Given the description of an element on the screen output the (x, y) to click on. 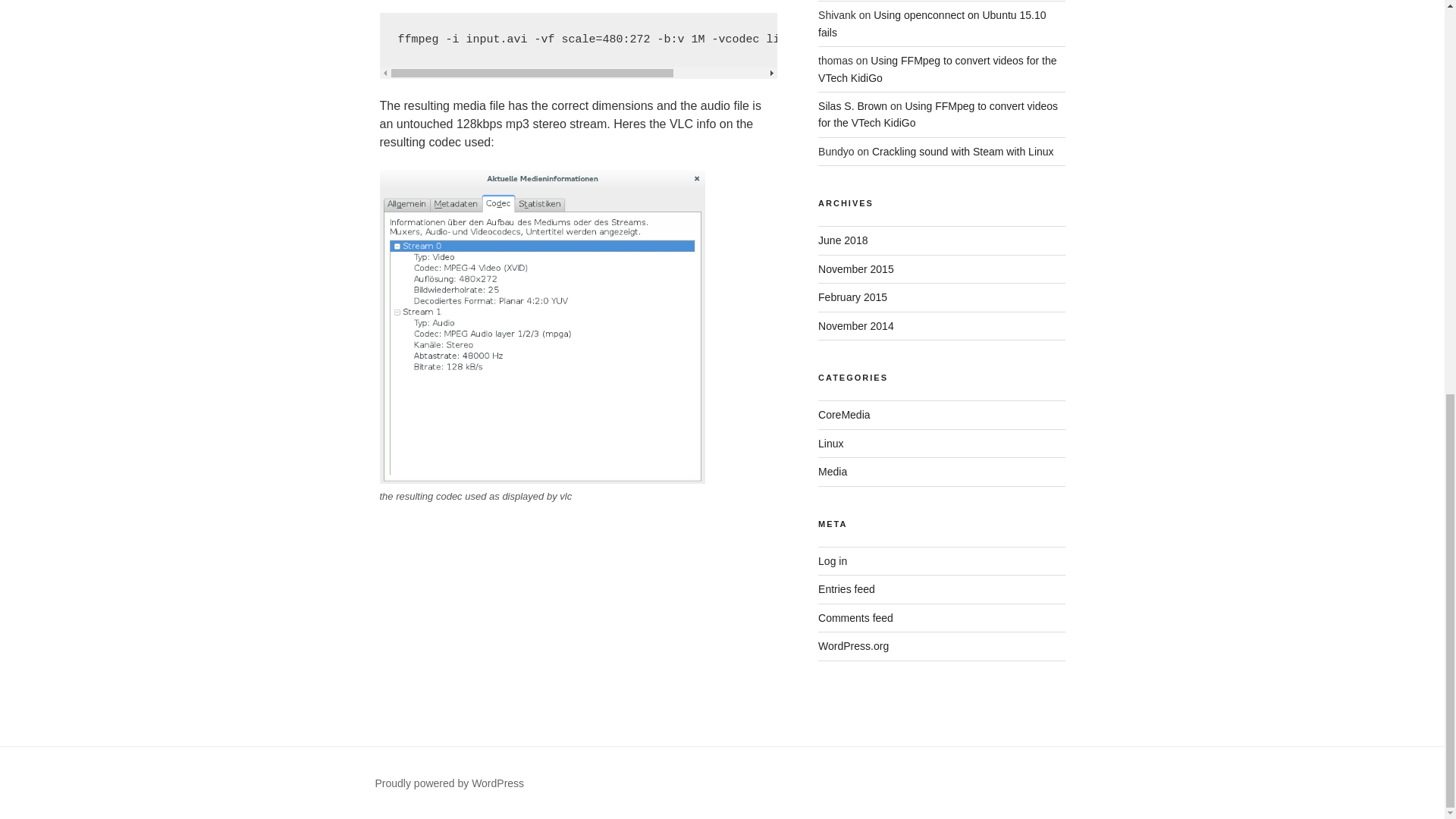
Media (832, 471)
February 2015 (852, 297)
CoreMedia (843, 414)
Proudly powered by WordPress (449, 783)
November 2015 (855, 268)
Comments feed (855, 617)
June 2018 (842, 240)
Crackling sound with Steam with Linux (963, 151)
Using FFMpeg to convert videos for the VTech KidiGo (937, 68)
Using openconnect on Ubuntu 15.10 fails (931, 23)
November 2014 (855, 326)
Entries feed (846, 589)
Log in (832, 561)
Silas S. Brown (852, 105)
WordPress.org (853, 645)
